Given the description of an element on the screen output the (x, y) to click on. 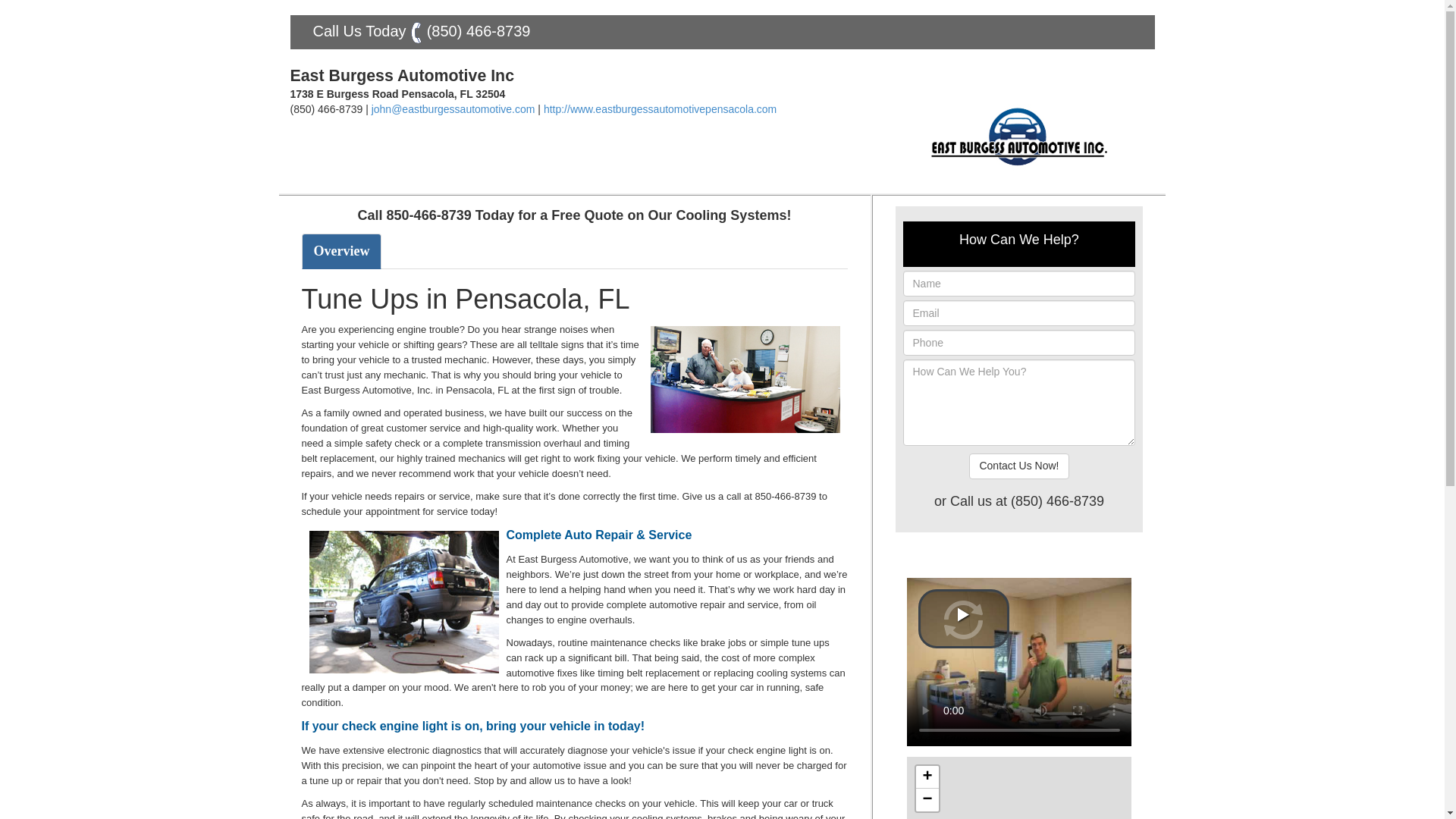
Contact Us Now! (1018, 466)
Brake Jobs Pensacola, FL (403, 601)
1 (745, 379)
Phone (1018, 342)
Overview (341, 251)
Zoom out (927, 799)
Zoom in (927, 776)
Name (1018, 283)
Contact Us Now! (1018, 466)
Email (1018, 312)
